Given the description of an element on the screen output the (x, y) to click on. 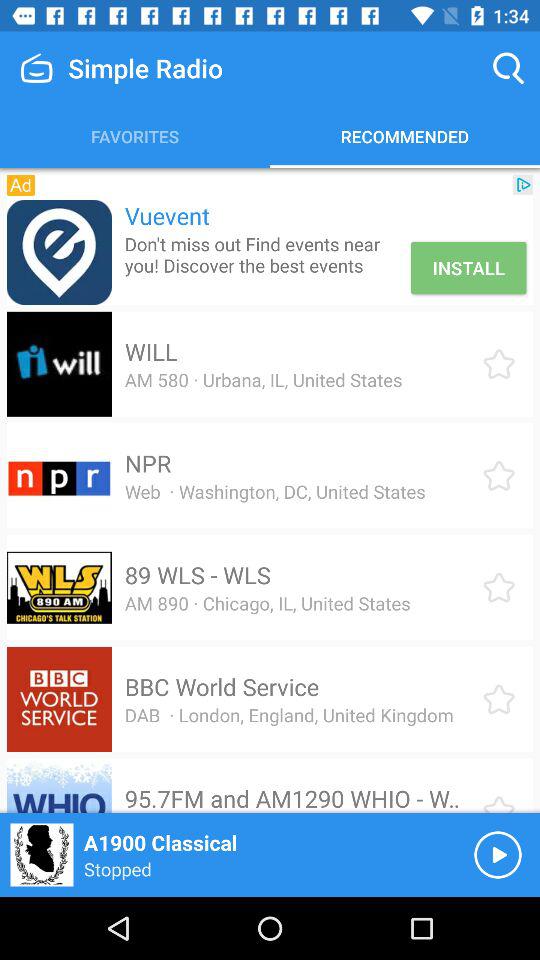
choose the item below npr icon (274, 491)
